Given the description of an element on the screen output the (x, y) to click on. 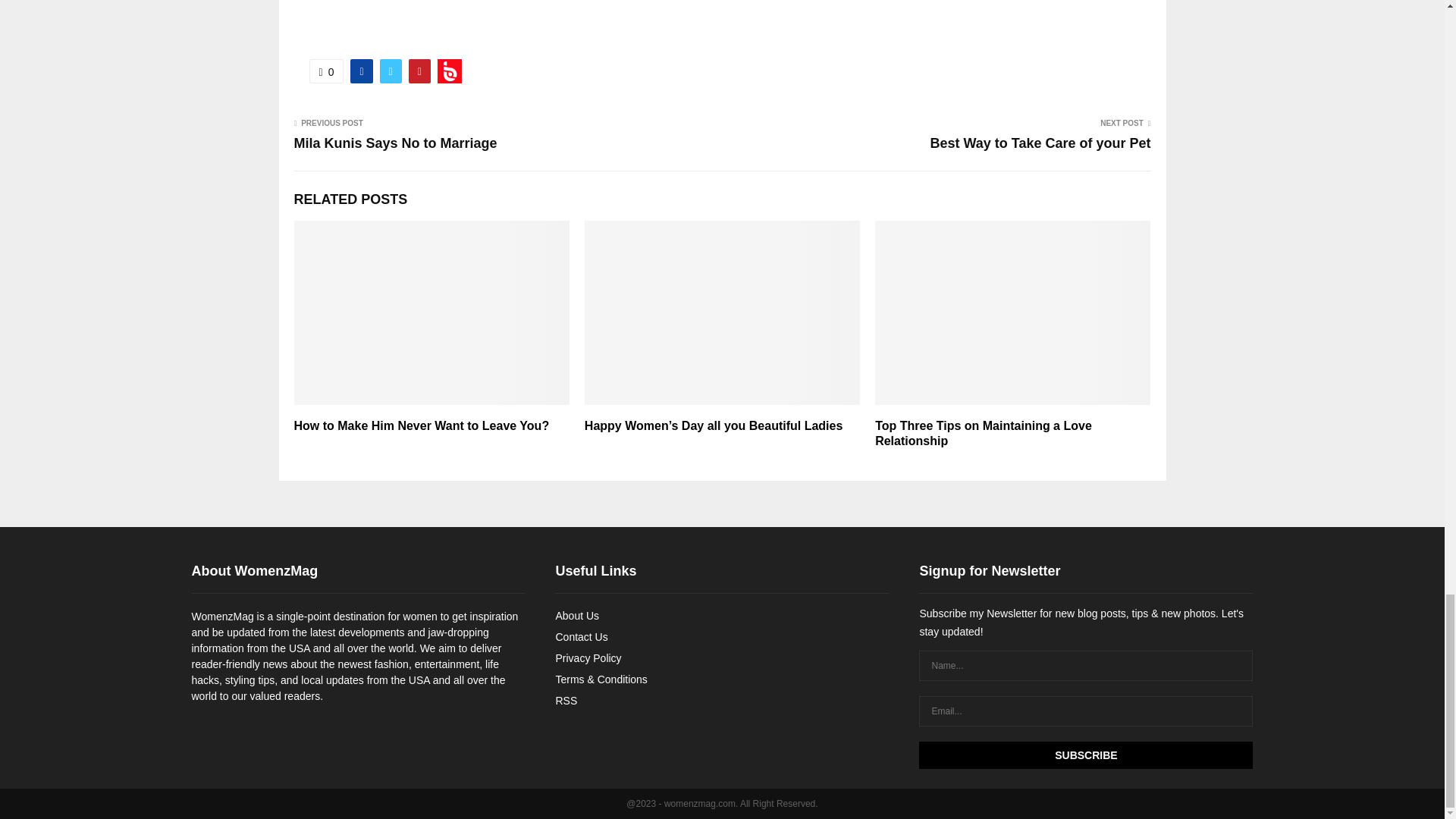
Best Way to Take Care of your Pet (1040, 142)
Like (325, 70)
Subscribe (1085, 755)
How to Make Him Never Want to Leave You? (422, 425)
Top Three Tips on Maintaining a Love Relationship (983, 433)
0 (325, 70)
Mila Kunis Says No to Marriage (395, 142)
